Given the description of an element on the screen output the (x, y) to click on. 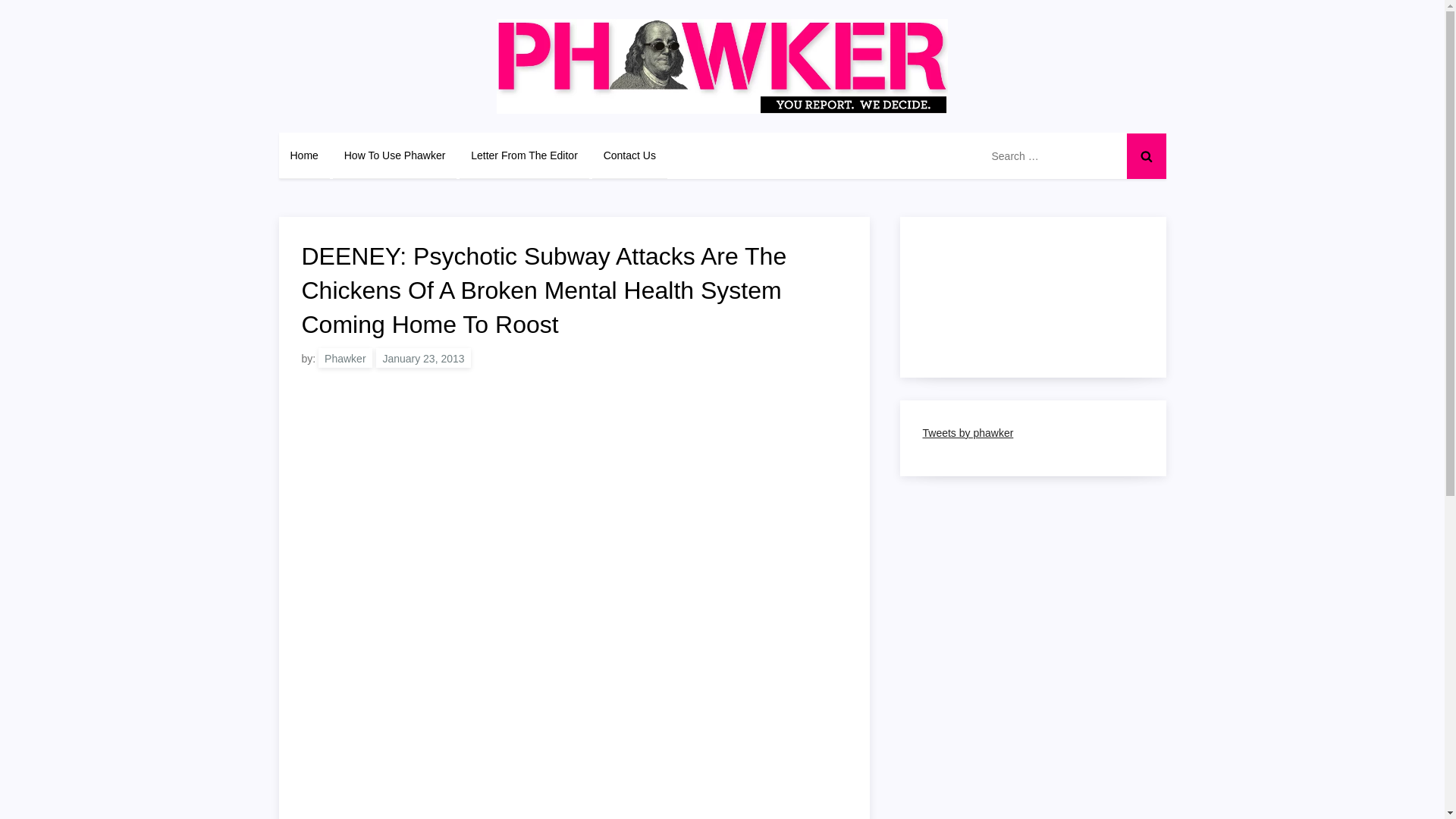
Letter From The Editor (524, 155)
Home (304, 155)
Tweets by phawker (967, 432)
January 23, 2013 (422, 357)
Phawker (344, 357)
How To Use Phawker (395, 155)
Contact Us (629, 155)
